Given the description of an element on the screen output the (x, y) to click on. 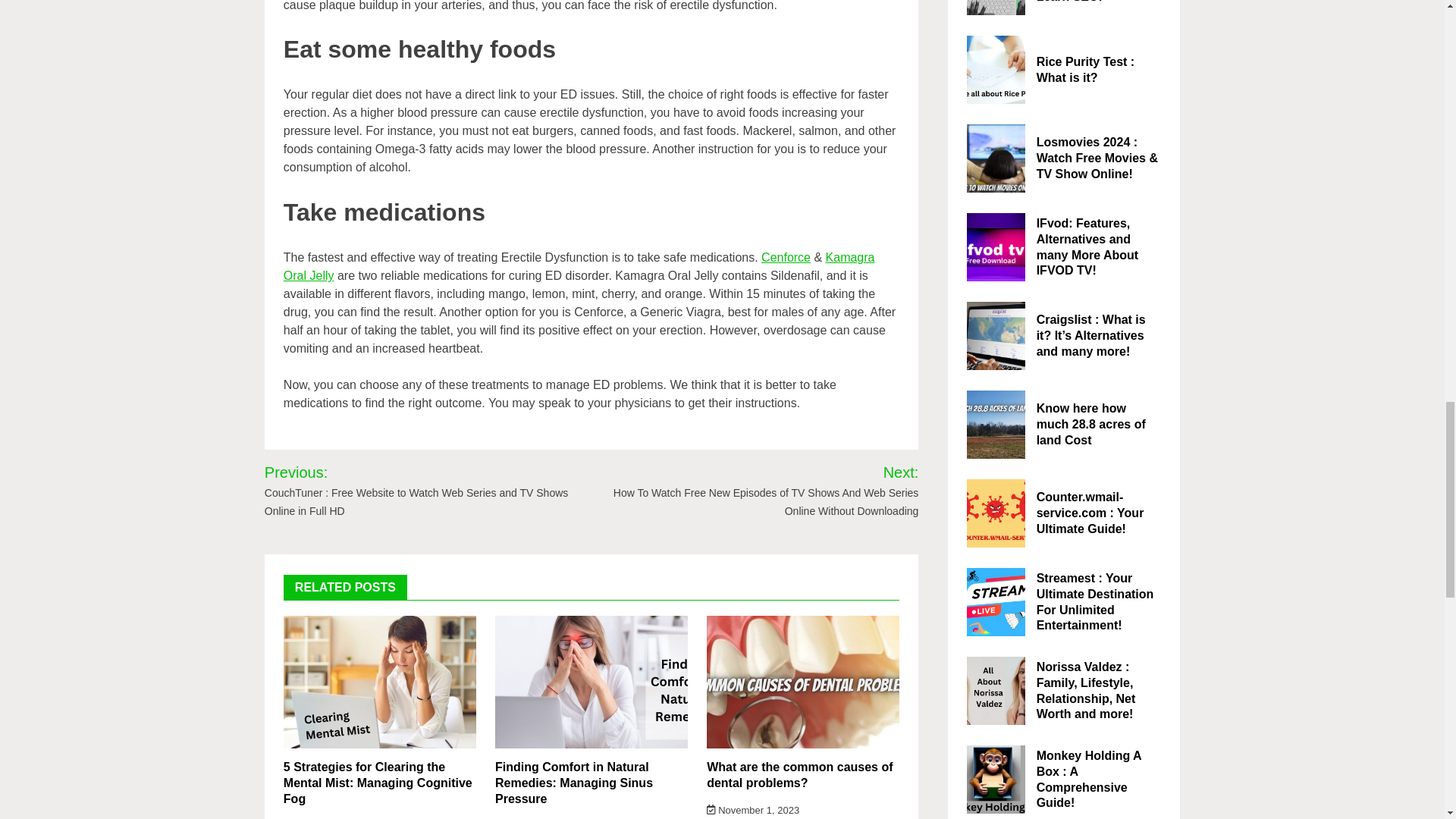
Cenforce (785, 256)
Kamagra Oral Jelly (579, 265)
